Given the description of an element on the screen output the (x, y) to click on. 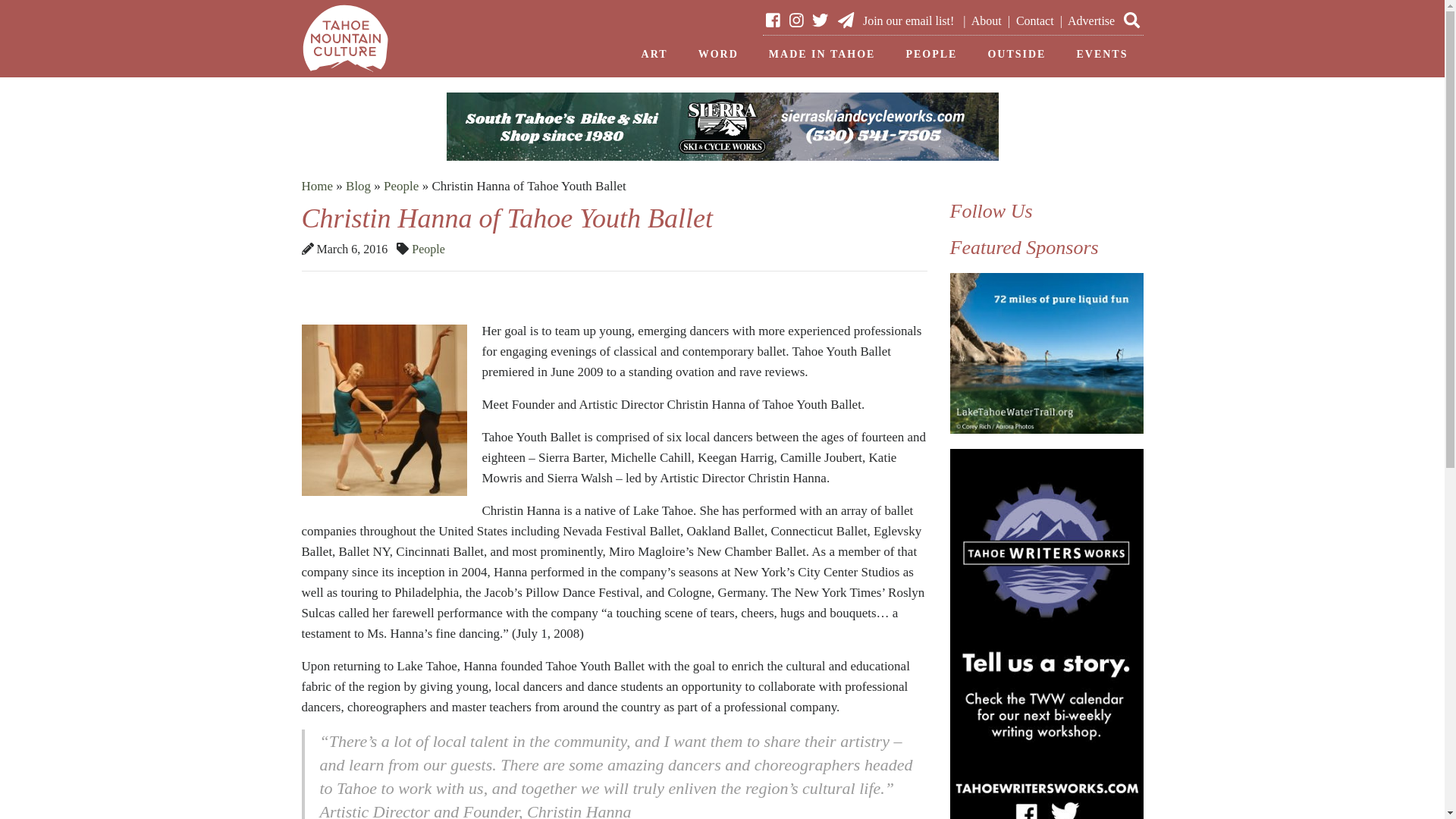
  Join our email list! (896, 20)
People (428, 248)
OUTSIDE (1016, 54)
About (986, 20)
PEOPLE (930, 54)
EVENTS (1101, 54)
ART (654, 54)
WORD (718, 54)
Contact (1035, 20)
Blog (358, 186)
